Given the description of an element on the screen output the (x, y) to click on. 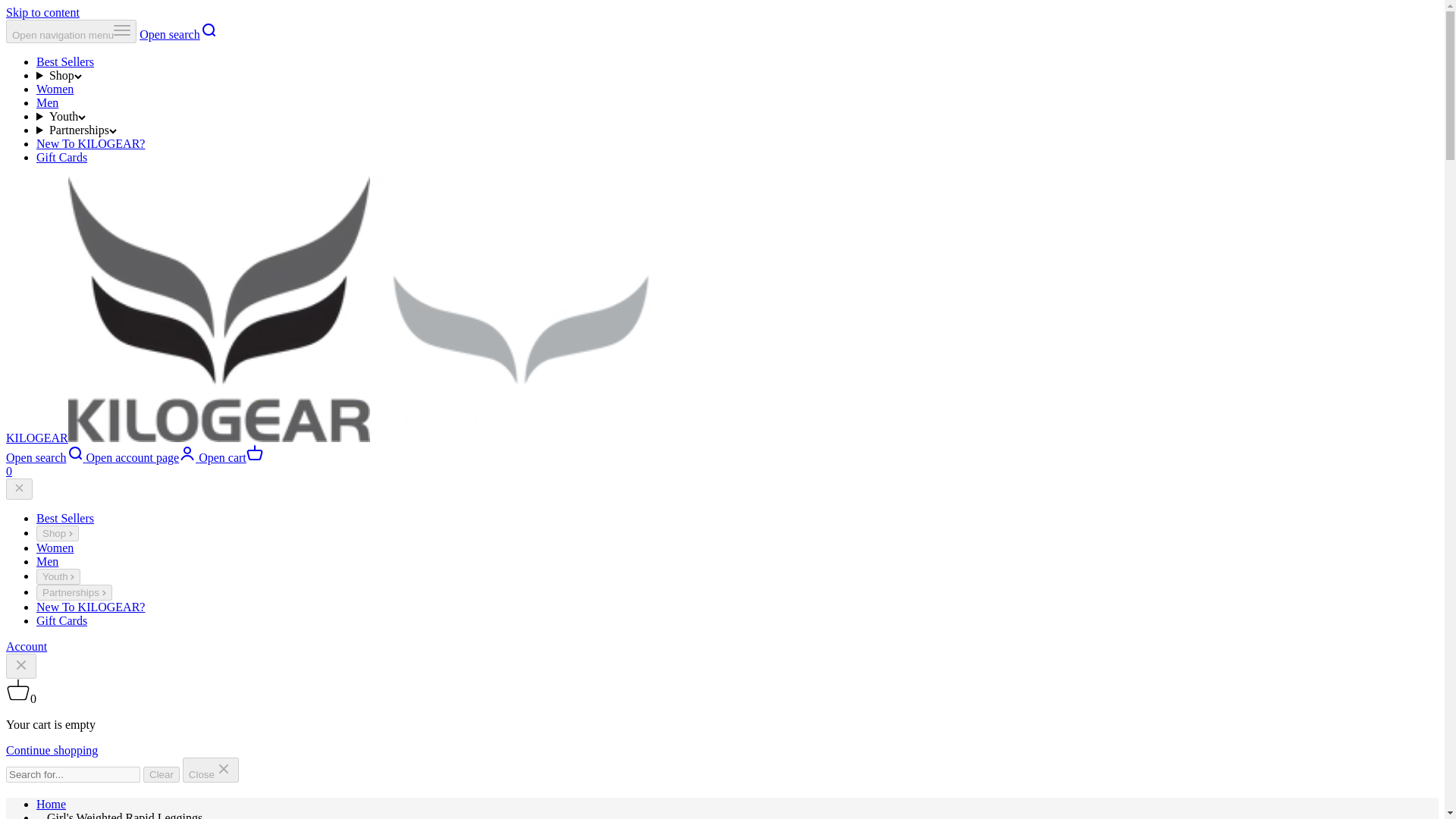
Men (47, 561)
Account (25, 645)
Women (55, 547)
Youth (58, 576)
Open account page (139, 457)
Open navigation menu (70, 31)
New To KILOGEAR? (90, 143)
Men (47, 102)
New To KILOGEAR? (90, 606)
Open search (177, 33)
